Given the description of an element on the screen output the (x, y) to click on. 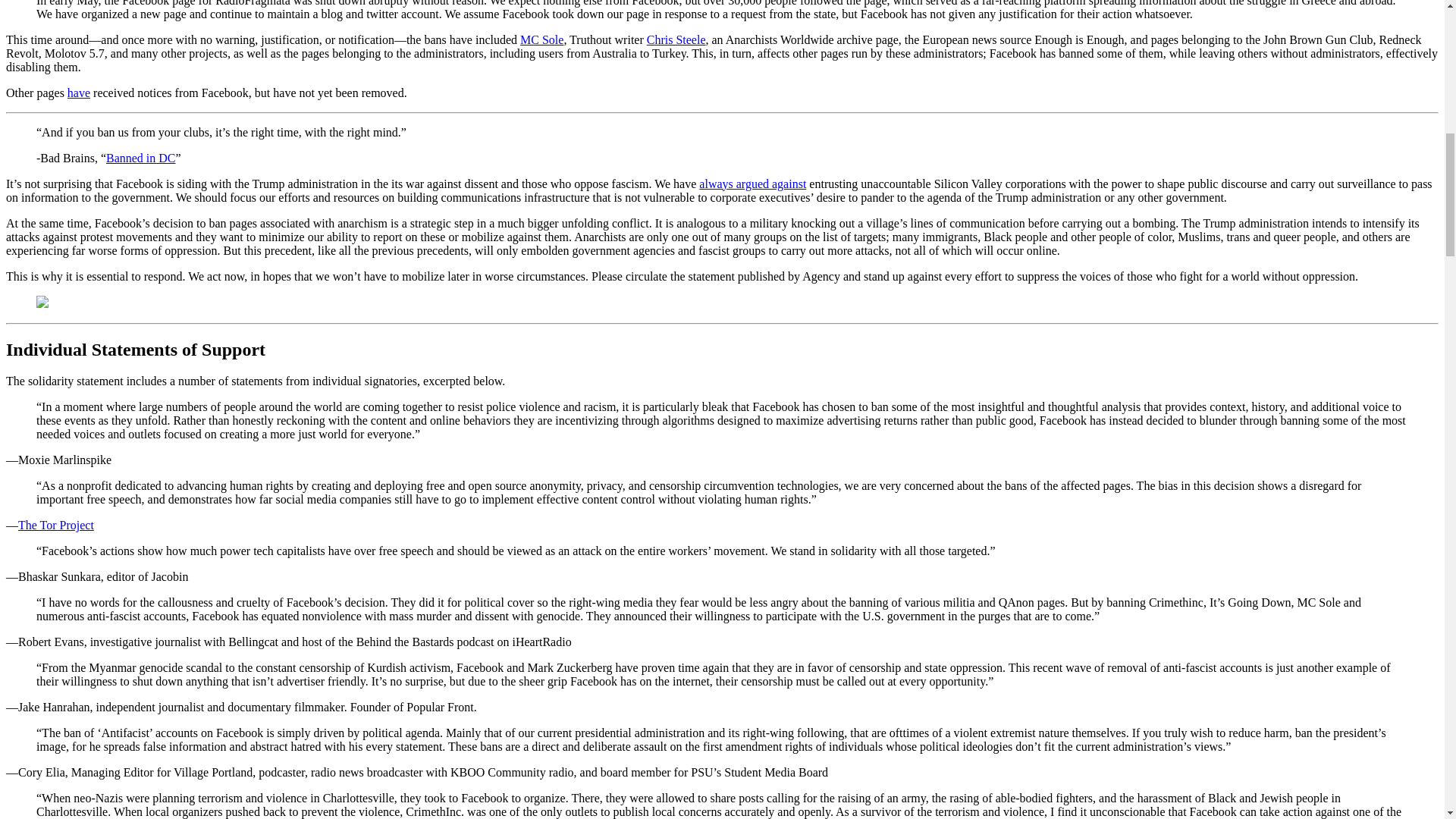
always argued against (752, 183)
The Tor Project (55, 524)
MC Sole (541, 39)
have (78, 92)
Banned in DC (141, 157)
Chris Steele (676, 39)
